Given the description of an element on the screen output the (x, y) to click on. 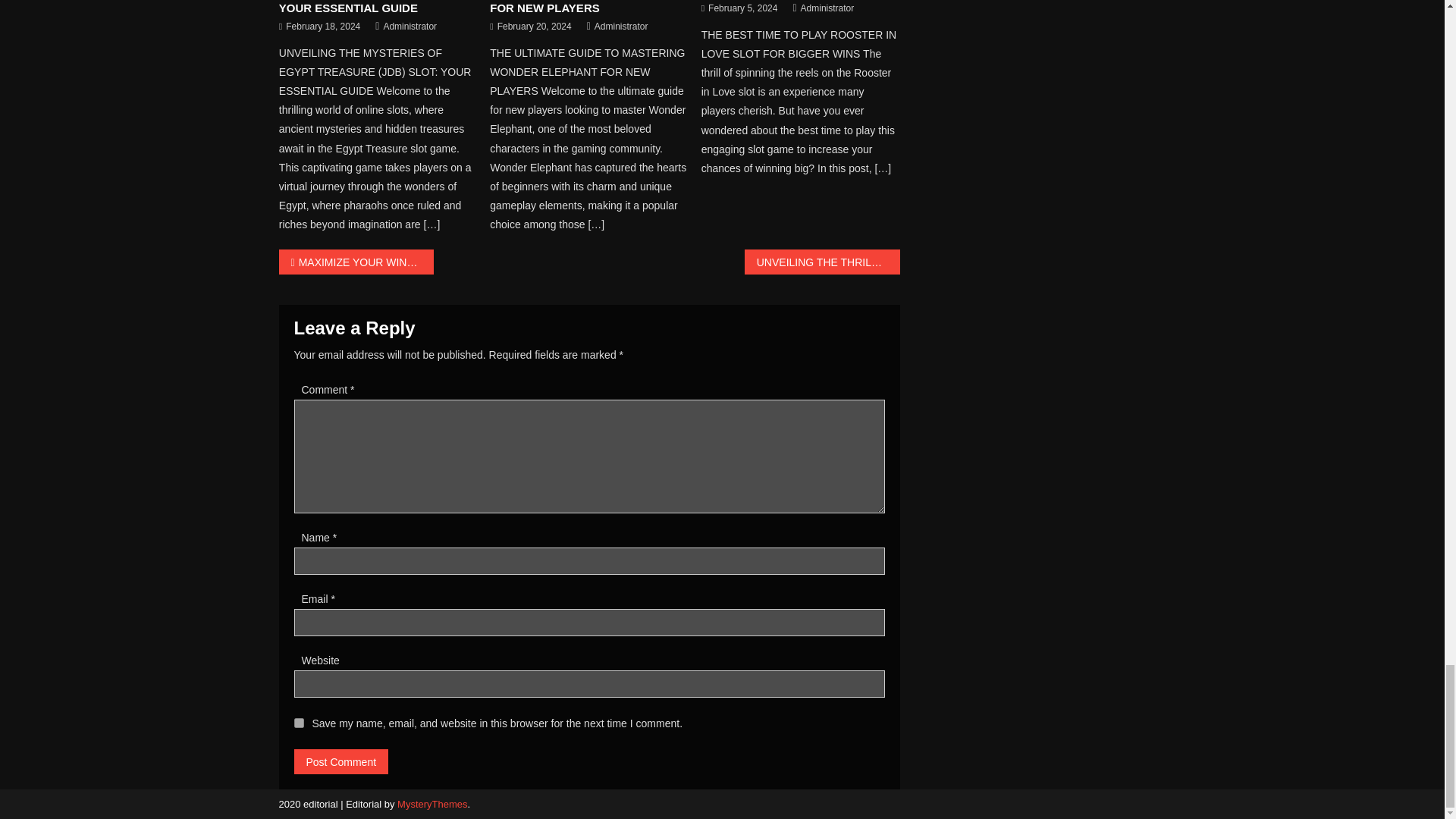
yes (299, 723)
February 5, 2024 (742, 8)
Administrator (827, 8)
UNVEILING THE THRILLING FEATURES OF PROSPERITY TIGER SLOT (821, 261)
MAXIMIZE YOUR WINS WITH THE BOOM FIESTA SLOT STRATEGY GUIDE (356, 261)
Administrator (409, 27)
Post Comment (341, 761)
February 18, 2024 (322, 27)
February 20, 2024 (534, 27)
Administrator (620, 27)
